Given the description of an element on the screen output the (x, y) to click on. 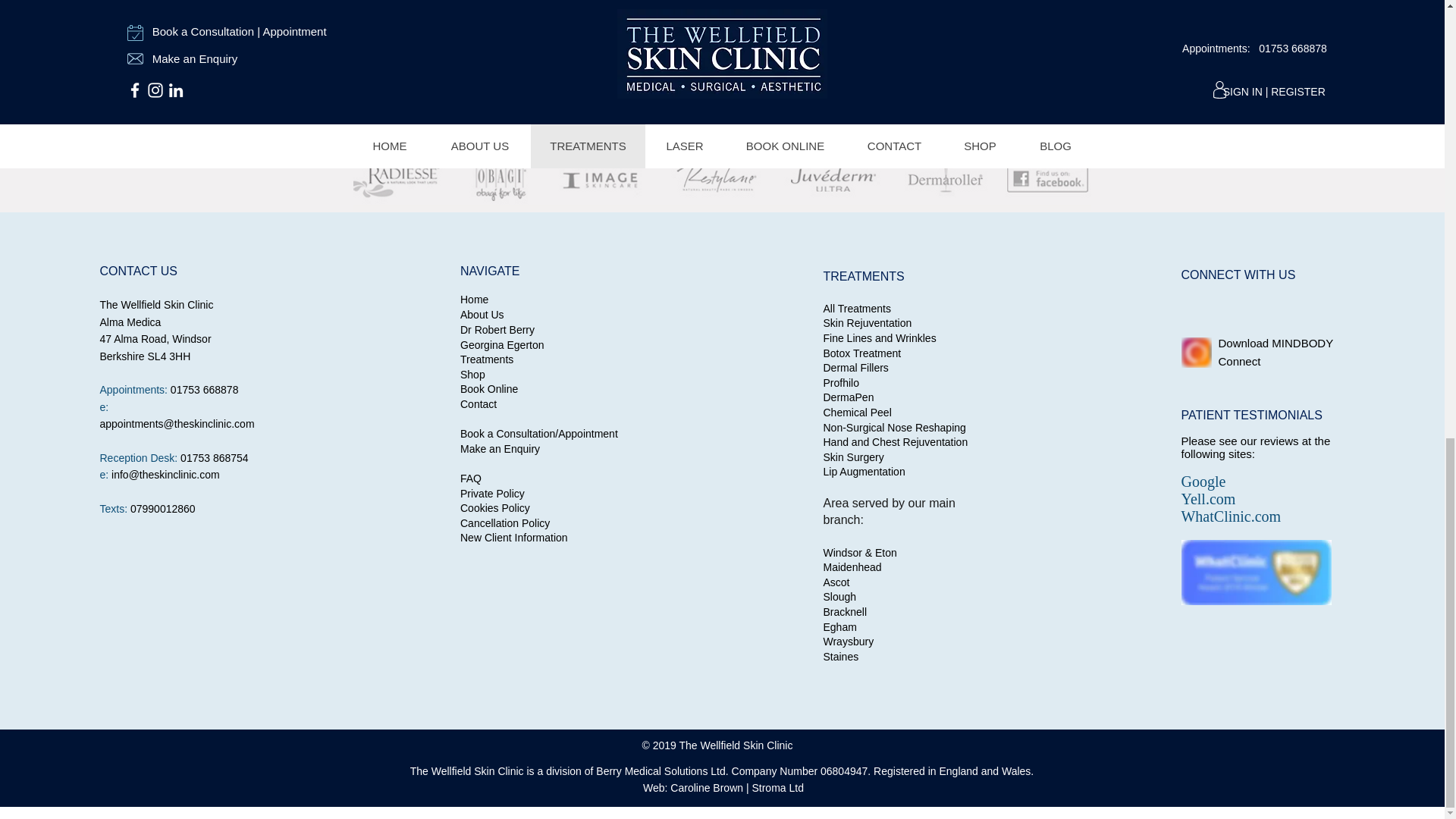
What Clinic Award Winner 2019 (1256, 572)
The Wellfield Skin Clinic (721, 178)
